Given the description of an element on the screen output the (x, y) to click on. 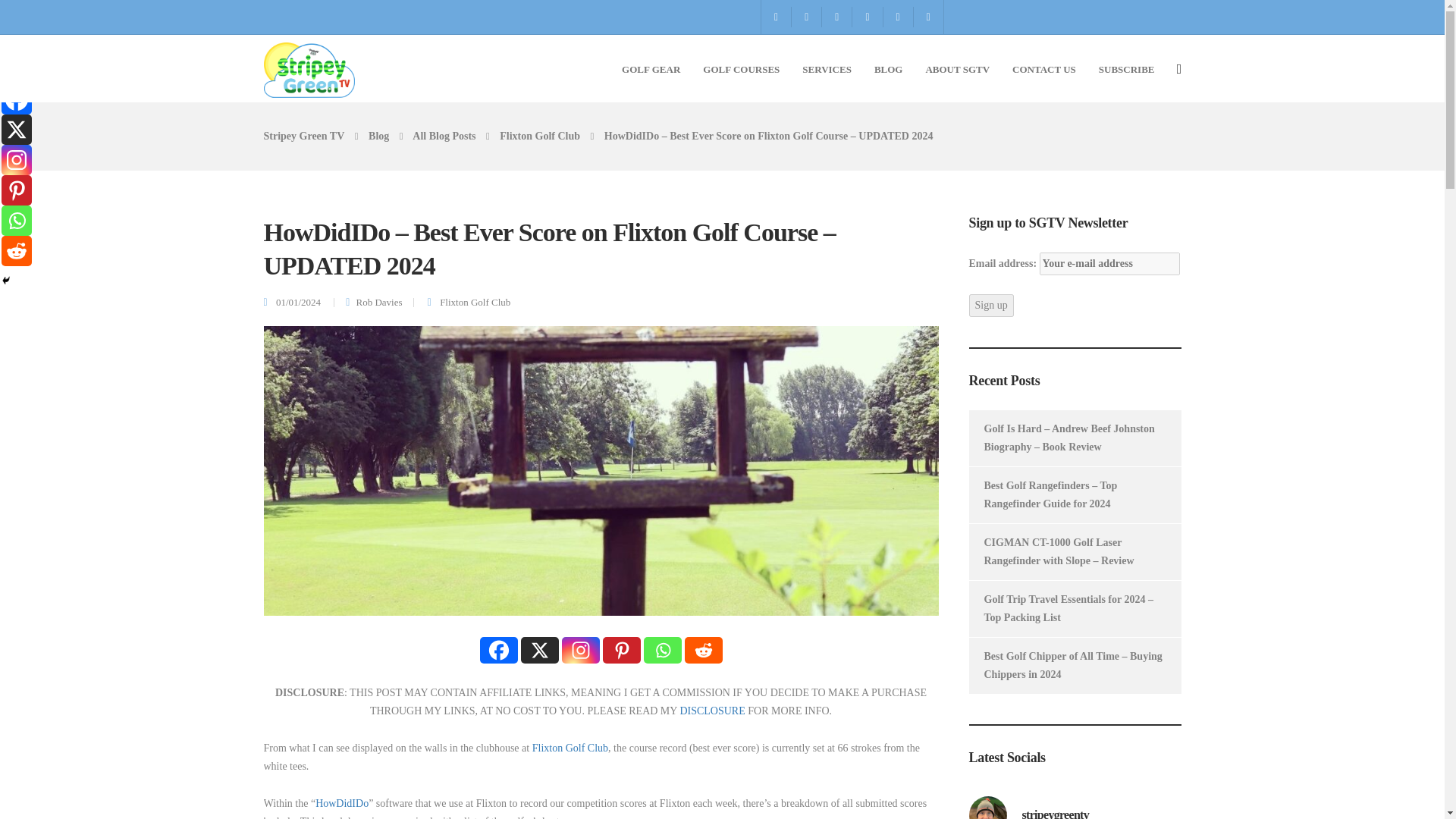
CONTACT US (1043, 68)
GOLF COURSES (740, 68)
Golf Courses (740, 68)
ABOUT SGTV (957, 68)
Sign up (991, 305)
